Given the description of an element on the screen output the (x, y) to click on. 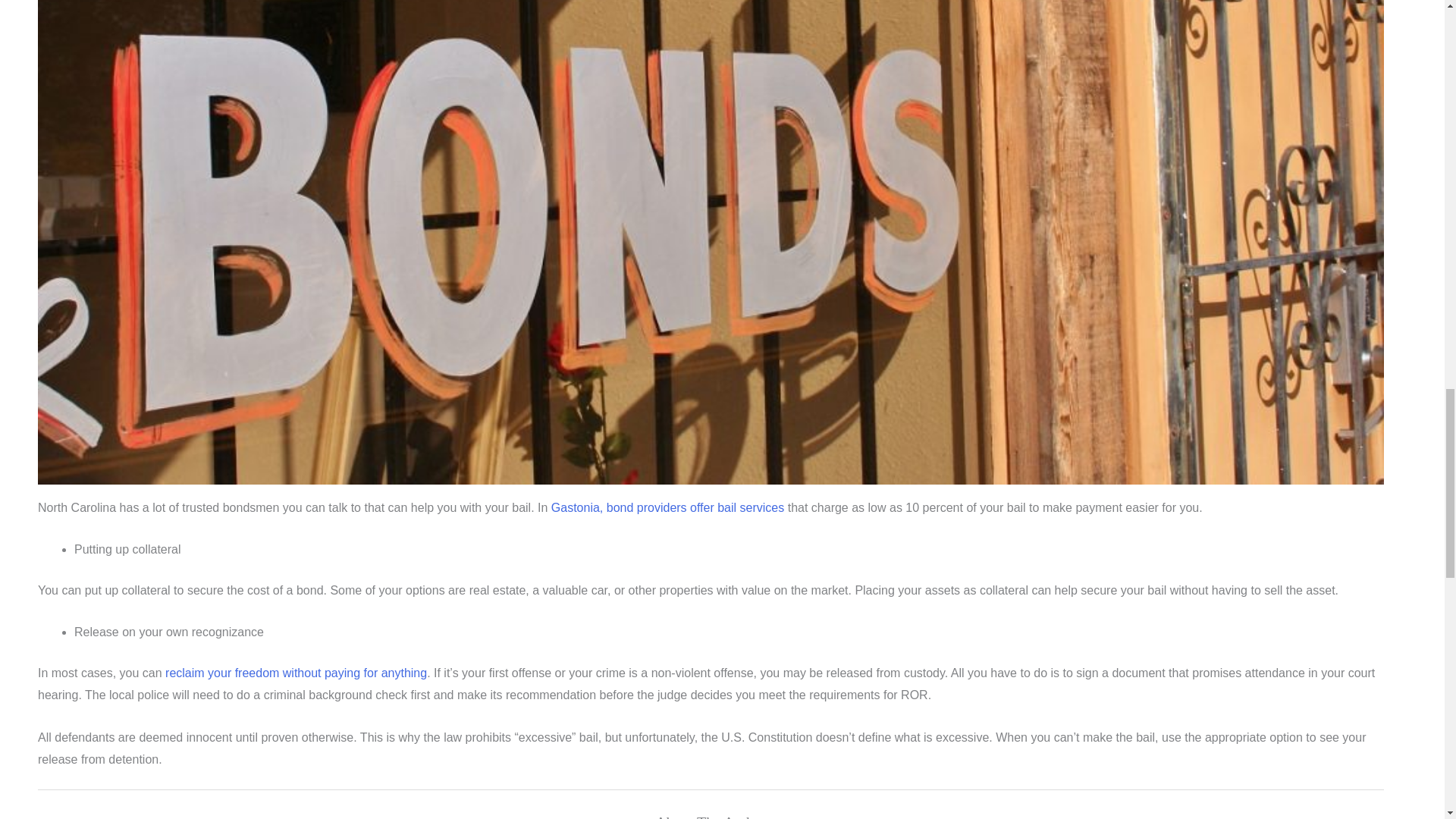
Nolo (295, 672)
Amistad Bail Bonds (667, 507)
reclaim your freedom without paying for anything (295, 672)
Gastonia, bond providers offer bail services (667, 507)
